Given the description of an element on the screen output the (x, y) to click on. 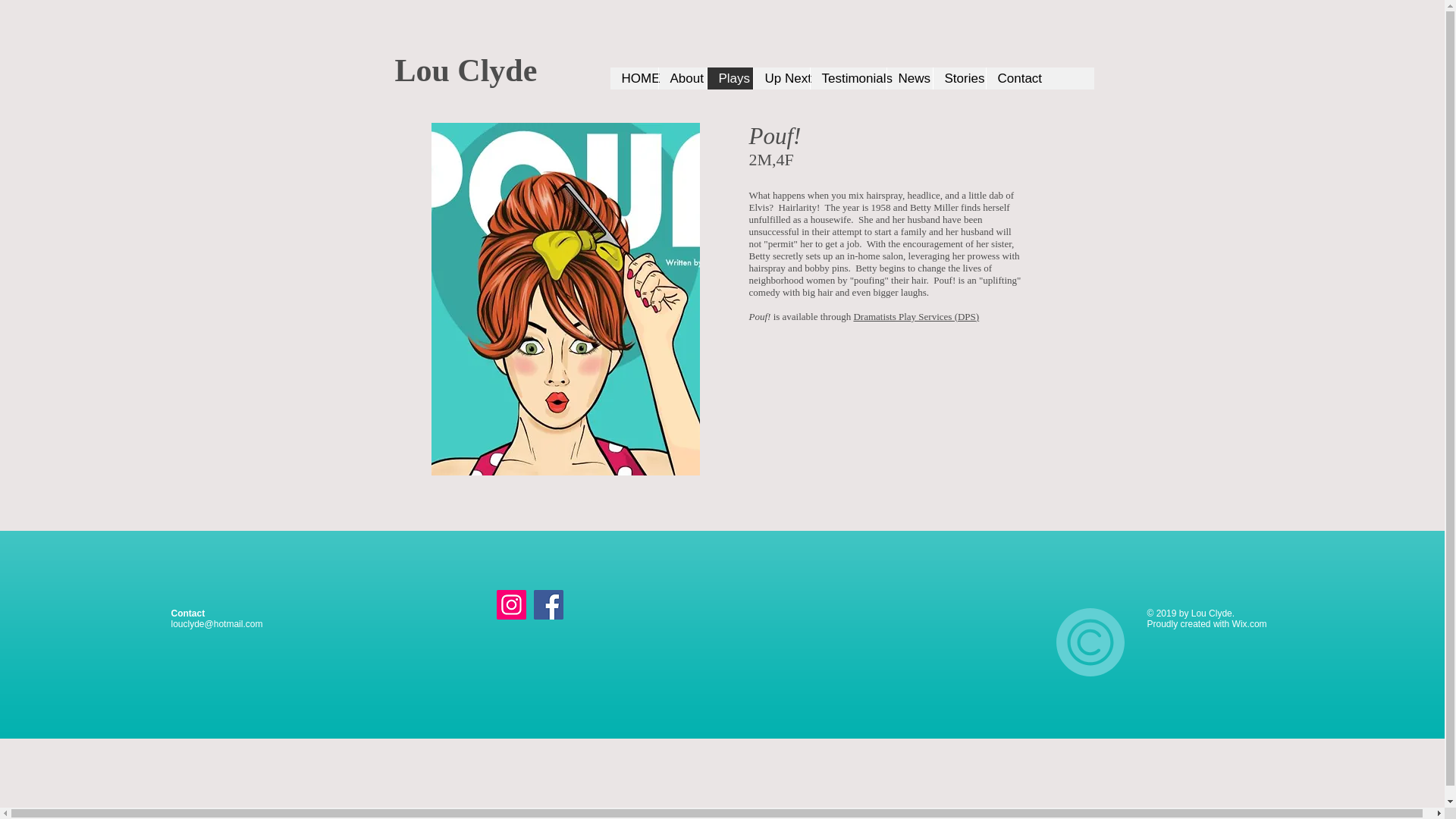
Up Next (780, 78)
Stories (959, 78)
Wix.com (1248, 624)
Plays (729, 78)
HOME (634, 78)
Testimonials (847, 78)
Contact (1013, 78)
News (908, 78)
About (682, 78)
